Given the description of an element on the screen output the (x, y) to click on. 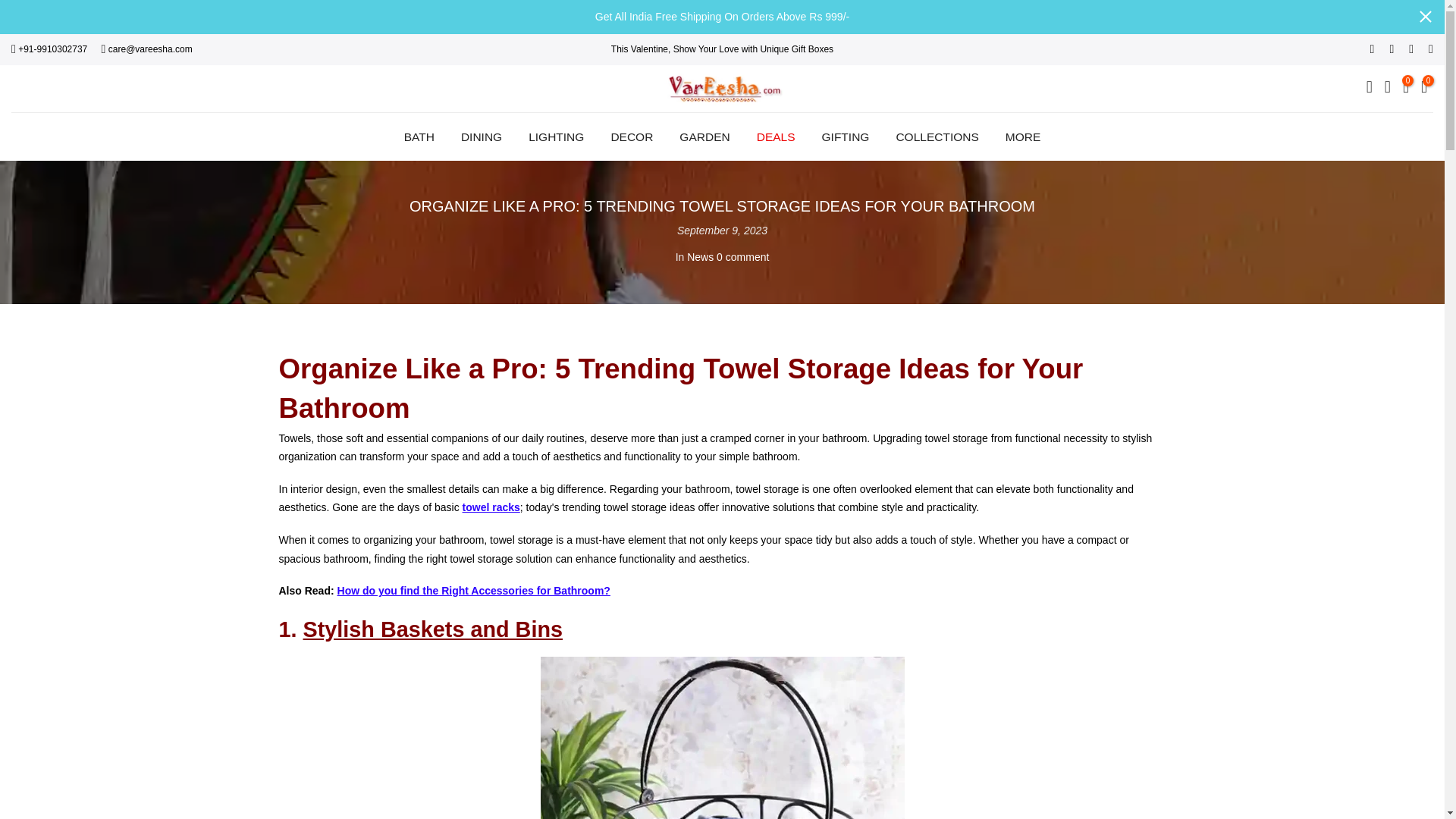
LIGHTING (555, 136)
Towel Racks (491, 507)
COLLECTIONS (936, 136)
MORE (1022, 136)
DINING (480, 136)
DEALS (775, 136)
BATH (418, 136)
How do you find the Right Accessories for Bathroom? (473, 590)
DECOR (631, 136)
